Given the description of an element on the screen output the (x, y) to click on. 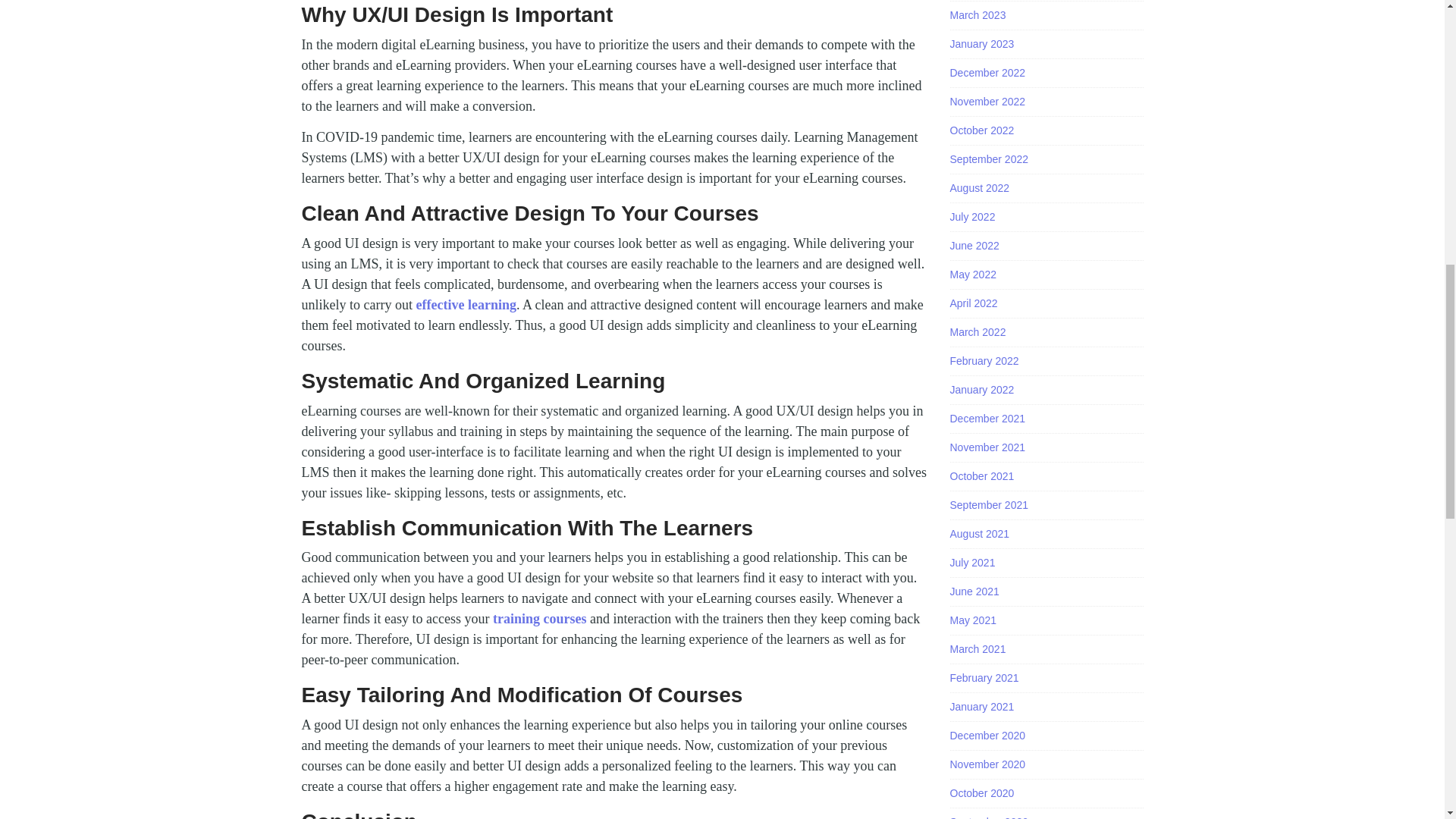
training courses (539, 618)
effective learning (464, 304)
